Given the description of an element on the screen output the (x, y) to click on. 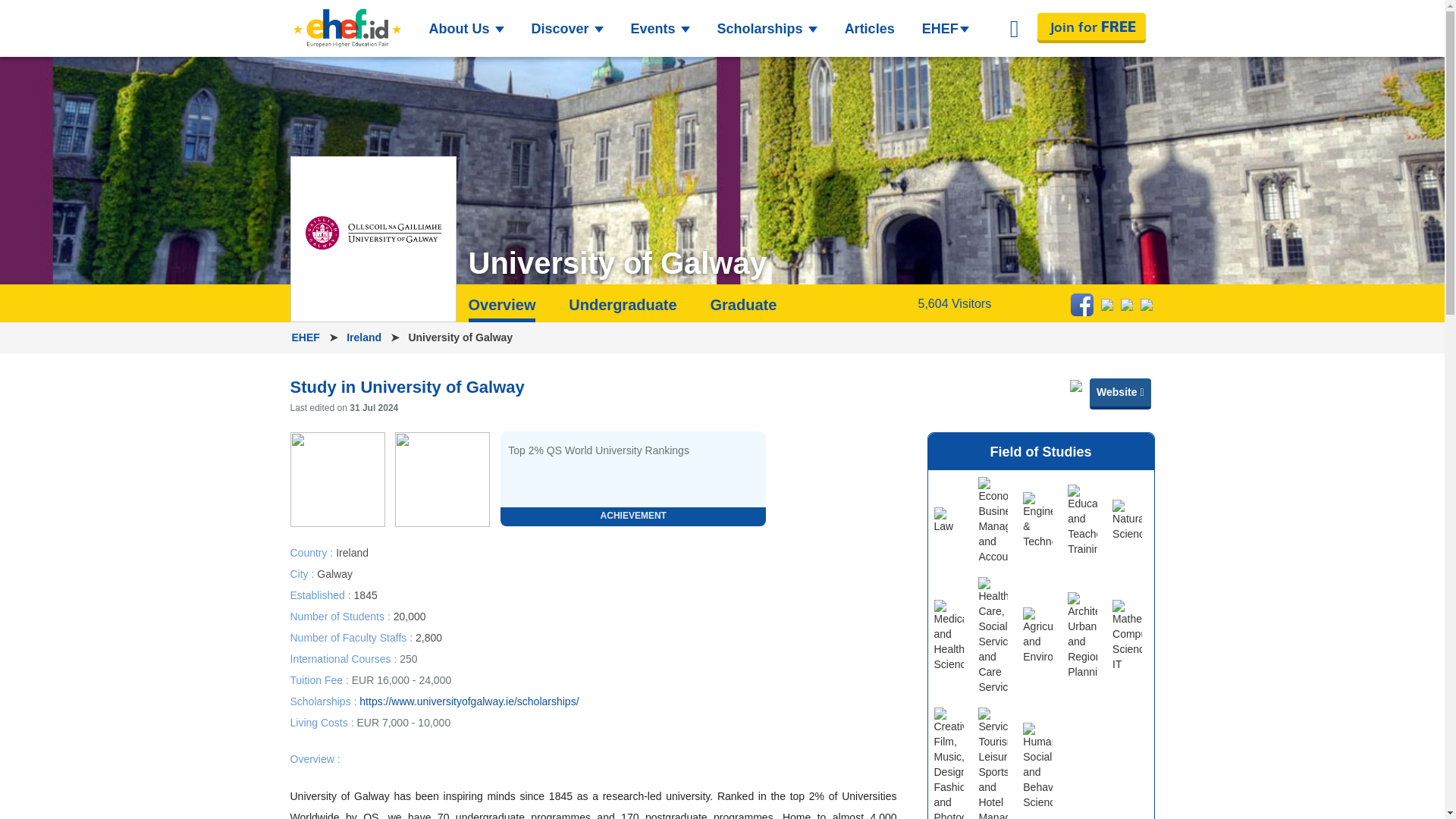
EHEF (945, 28)
Law (948, 520)
Undergraduate (623, 304)
Scholarships (767, 28)
Graduate (743, 304)
Logo ehef.id (346, 27)
About Us (467, 28)
EHEF (306, 337)
Articles (869, 28)
Discover (566, 28)
Overview (501, 308)
Events (660, 28)
